Given the description of an element on the screen output the (x, y) to click on. 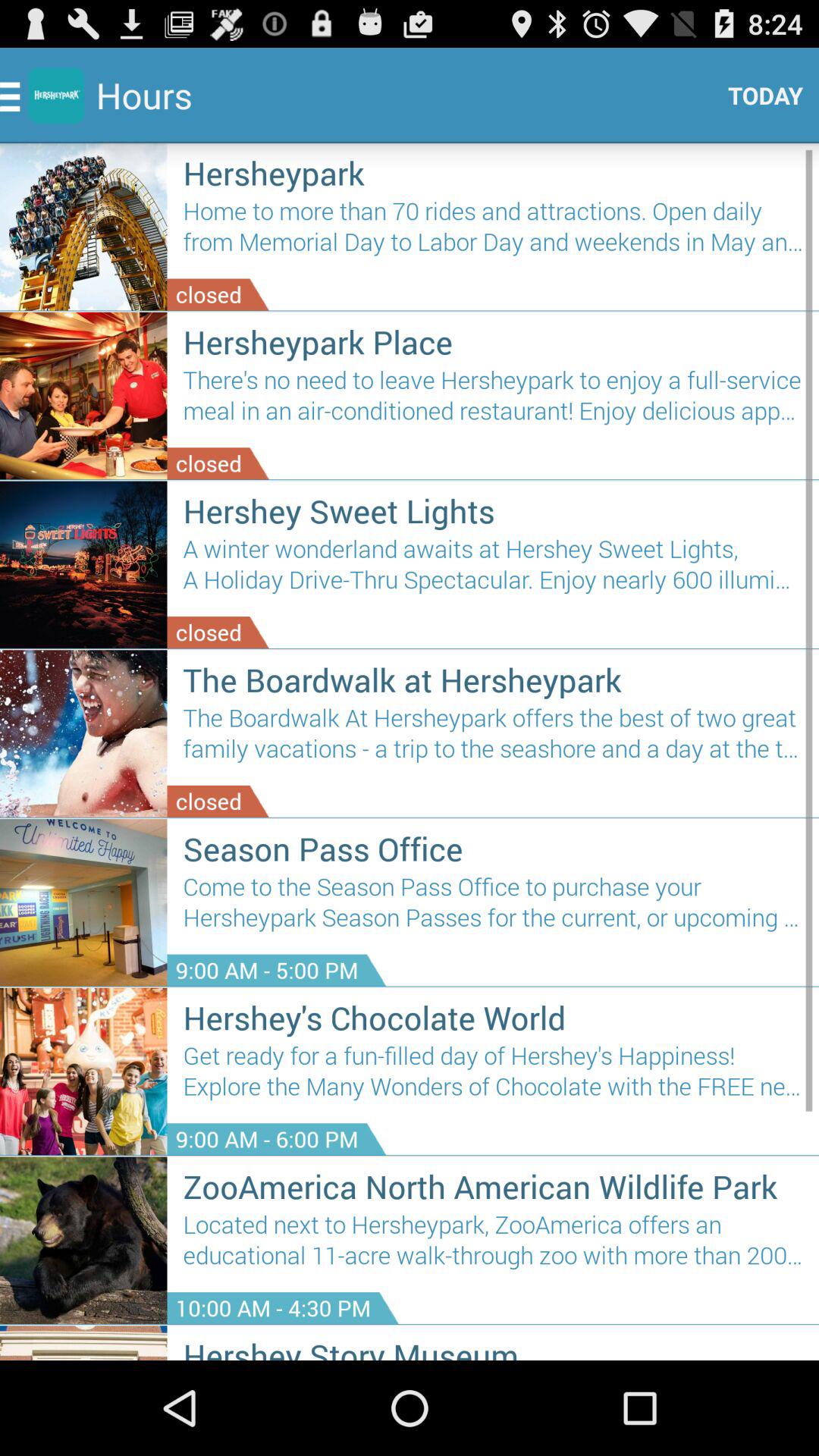
tap the icon above the hersheypark icon (759, 95)
